Given the description of an element on the screen output the (x, y) to click on. 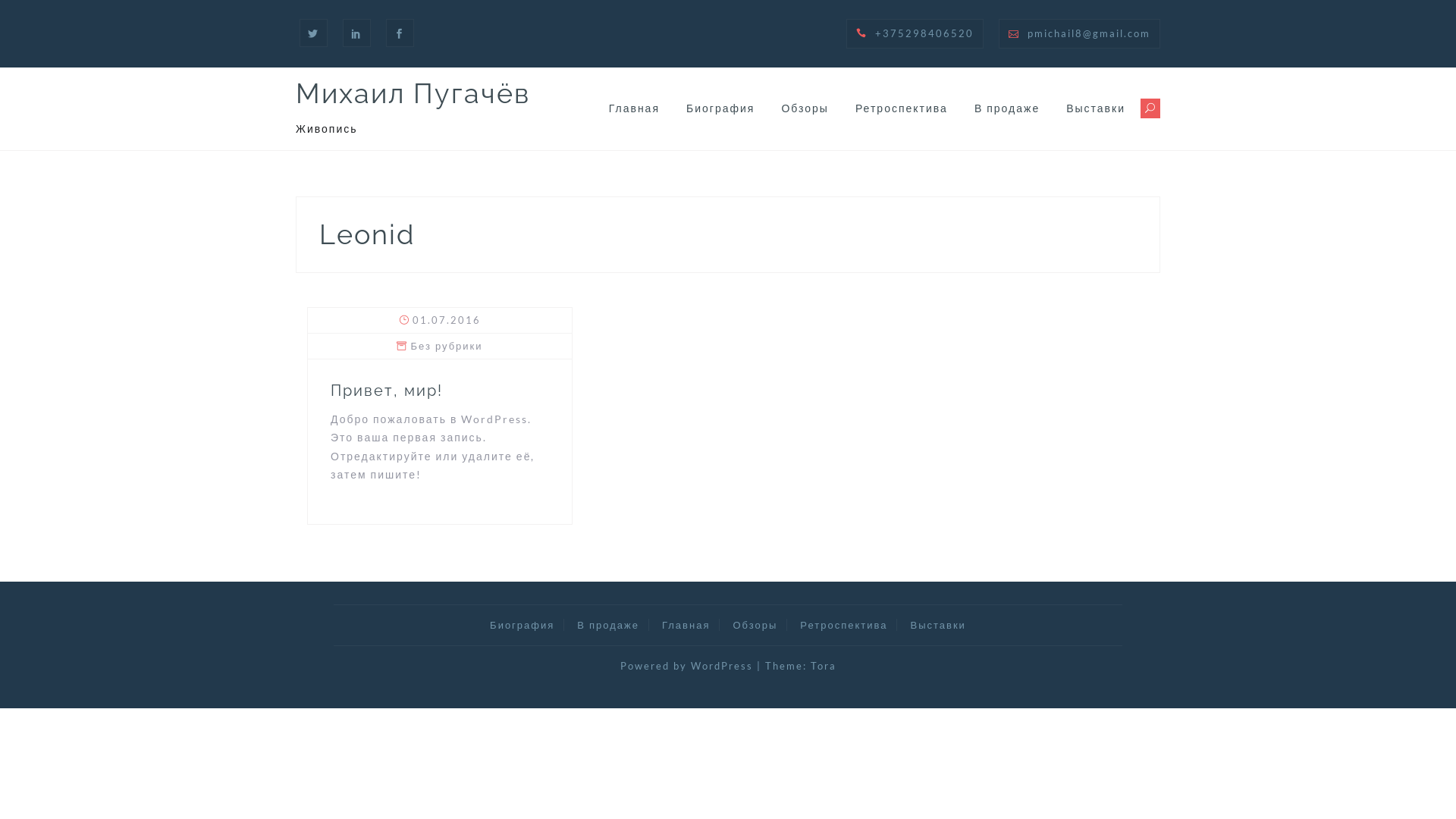
pmichail8@gmail.com Element type: text (1088, 33)
TW Element type: text (313, 32)
Tora Element type: text (822, 665)
FB Element type: text (399, 32)
Skip to content Element type: text (0, 0)
LI Element type: text (356, 32)
Powered by WordPress Element type: text (686, 665)
01.07.2016 Element type: text (446, 319)
